Given the description of an element on the screen output the (x, y) to click on. 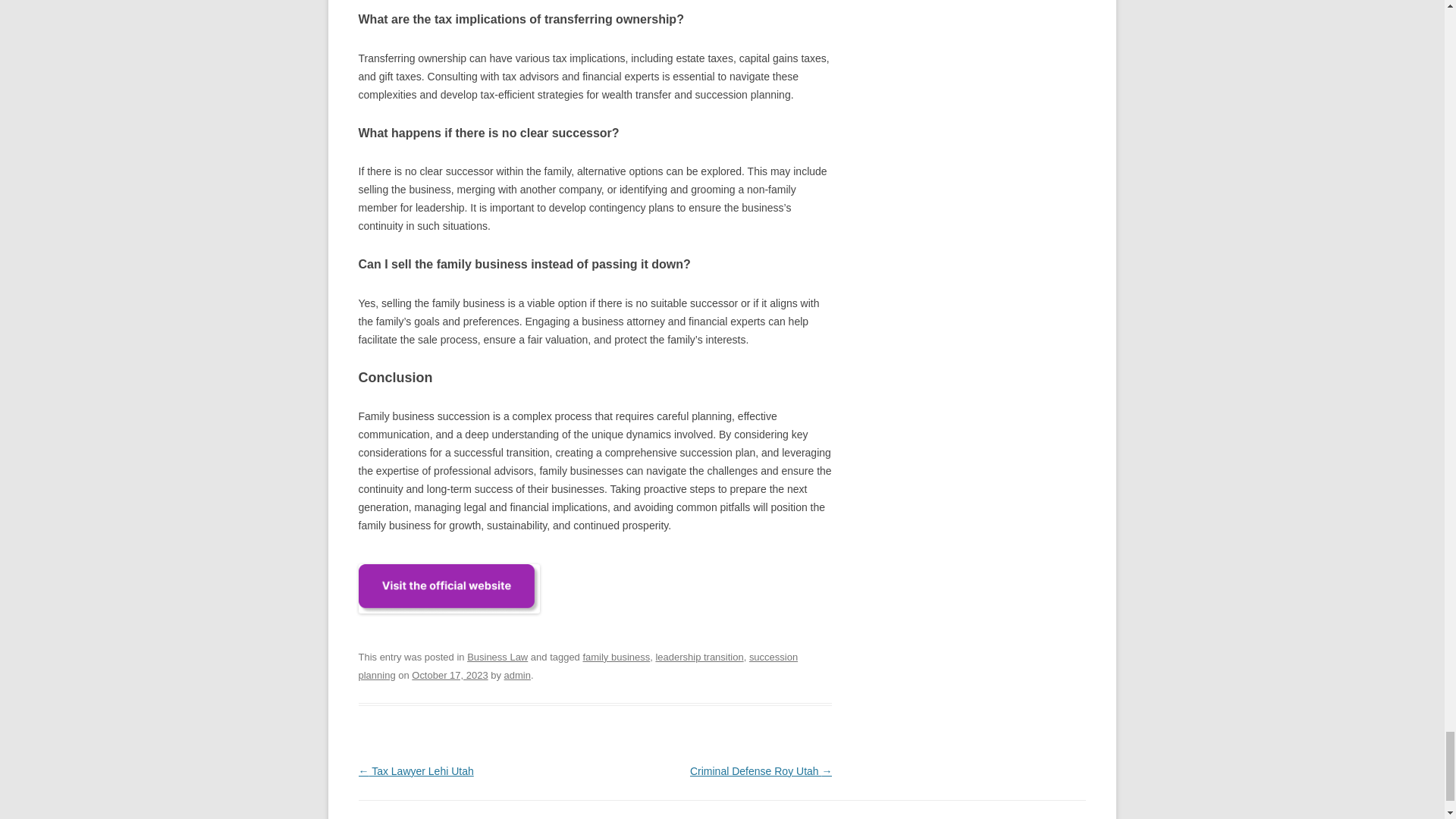
family business (615, 656)
Business Law (497, 656)
leadership transition (698, 656)
admin (517, 674)
succession planning (577, 665)
October 17, 2023 (449, 674)
3:23 am (449, 674)
View all posts by admin (517, 674)
